Given the description of an element on the screen output the (x, y) to click on. 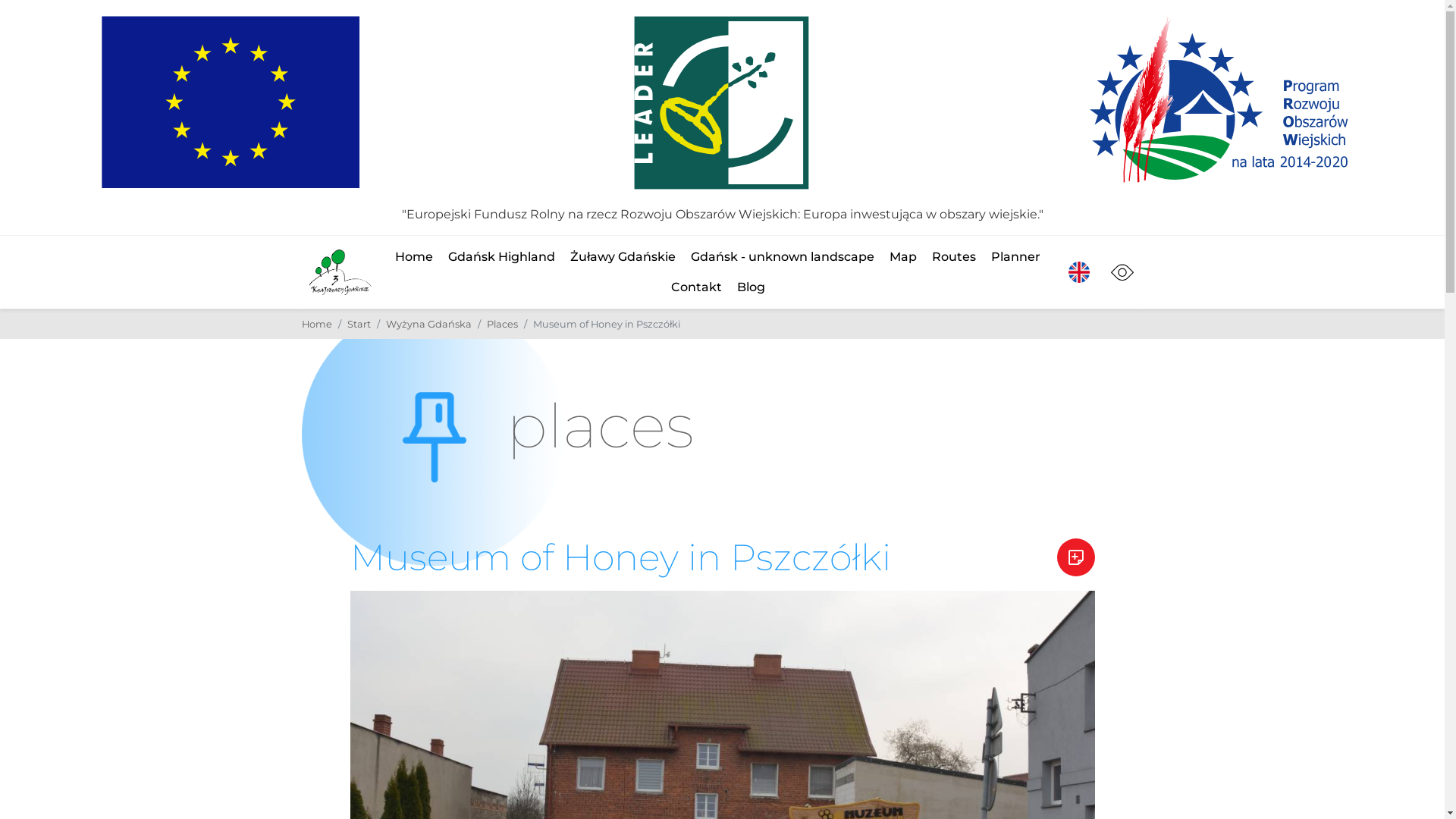
Routes Element type: text (953, 256)
Contakt Element type: text (696, 287)
Home Element type: text (316, 323)
Home Element type: text (414, 256)
Map Element type: text (902, 256)
Start Element type: text (358, 323)
Places Element type: text (501, 323)
Add to the planner Element type: hover (1076, 556)
Blog Element type: text (751, 287)
Planner Element type: text (1015, 256)
